Given the description of an element on the screen output the (x, y) to click on. 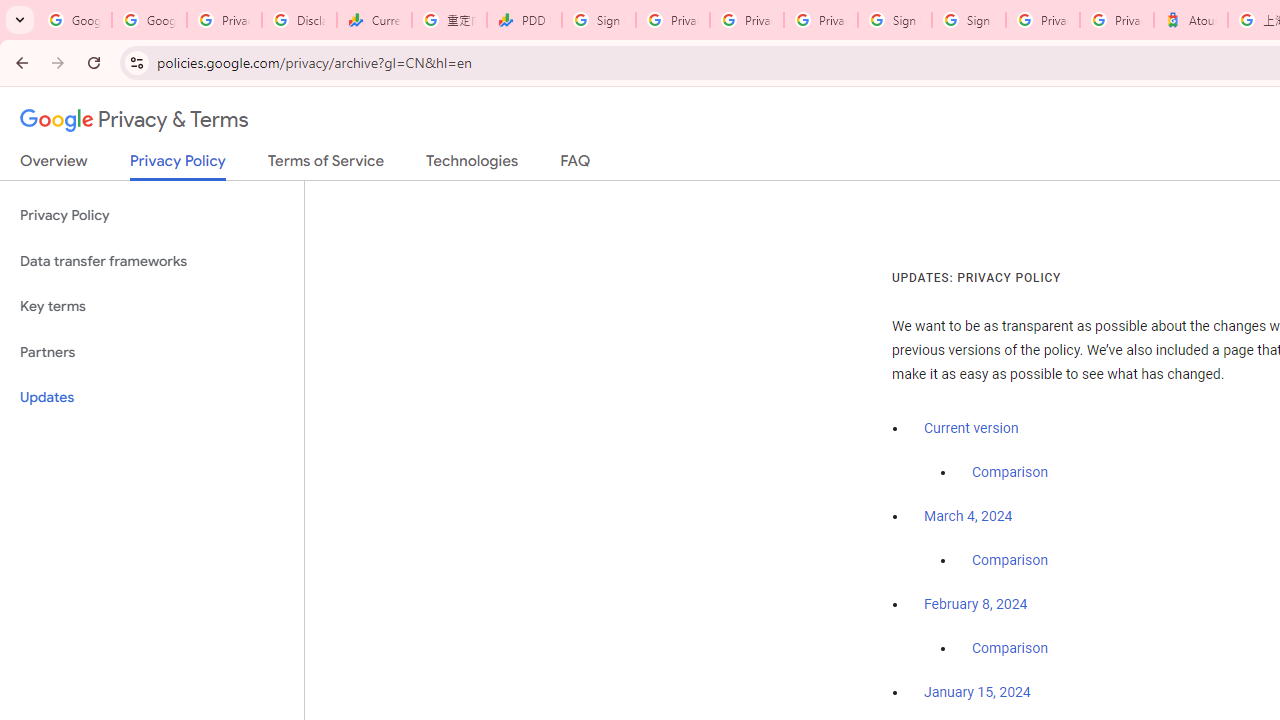
Sign in - Google Accounts (598, 20)
Currencies - Google Finance (374, 20)
Privacy Checkup (820, 20)
Key terms (152, 306)
Sign in - Google Accounts (968, 20)
Sign in - Google Accounts (894, 20)
Privacy & Terms (134, 120)
